Given the description of an element on the screen output the (x, y) to click on. 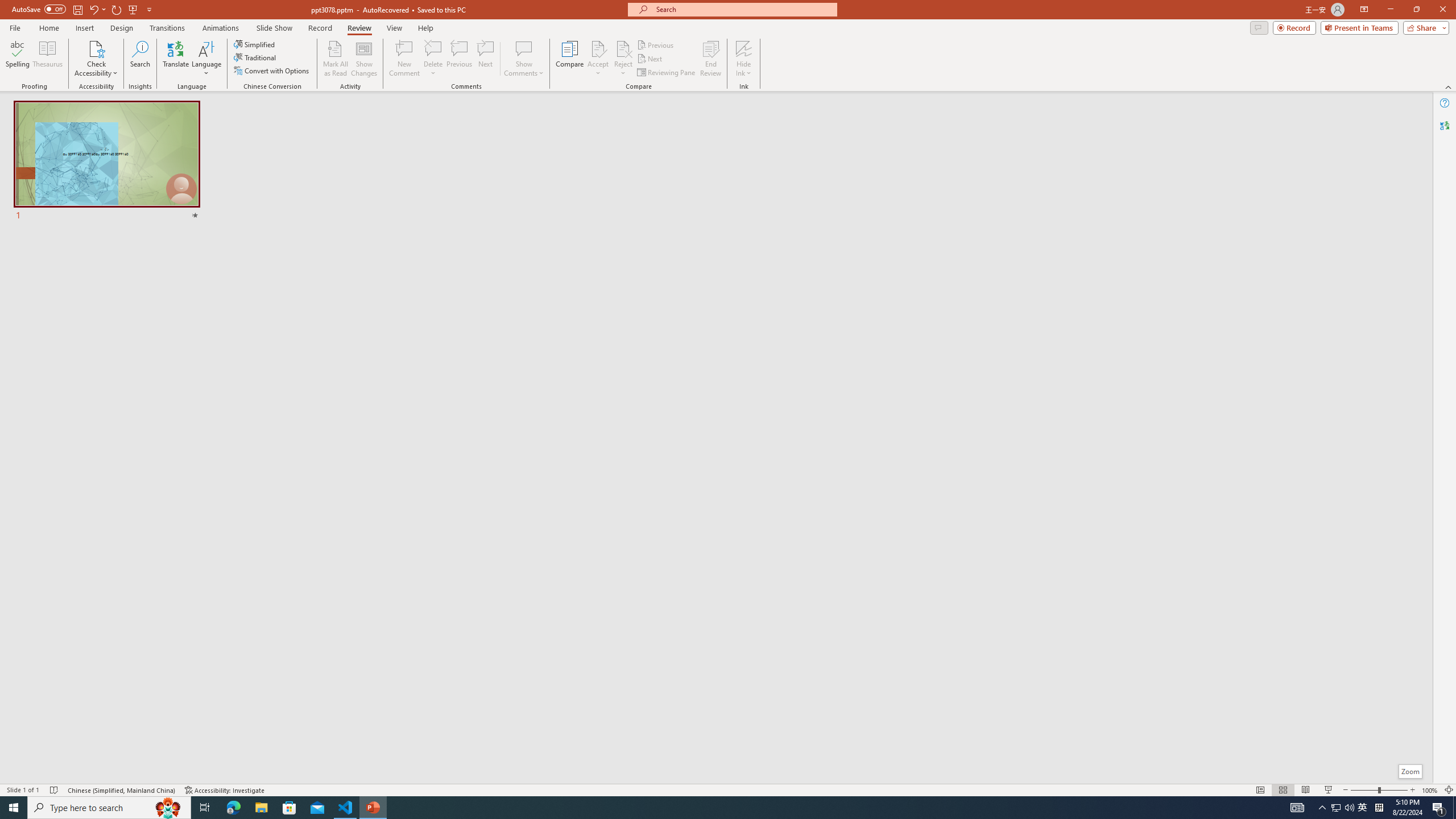
Reject (622, 58)
Show Comments (524, 48)
Delete (432, 48)
Show Changes (363, 58)
Language (206, 58)
